Given the description of an element on the screen output the (x, y) to click on. 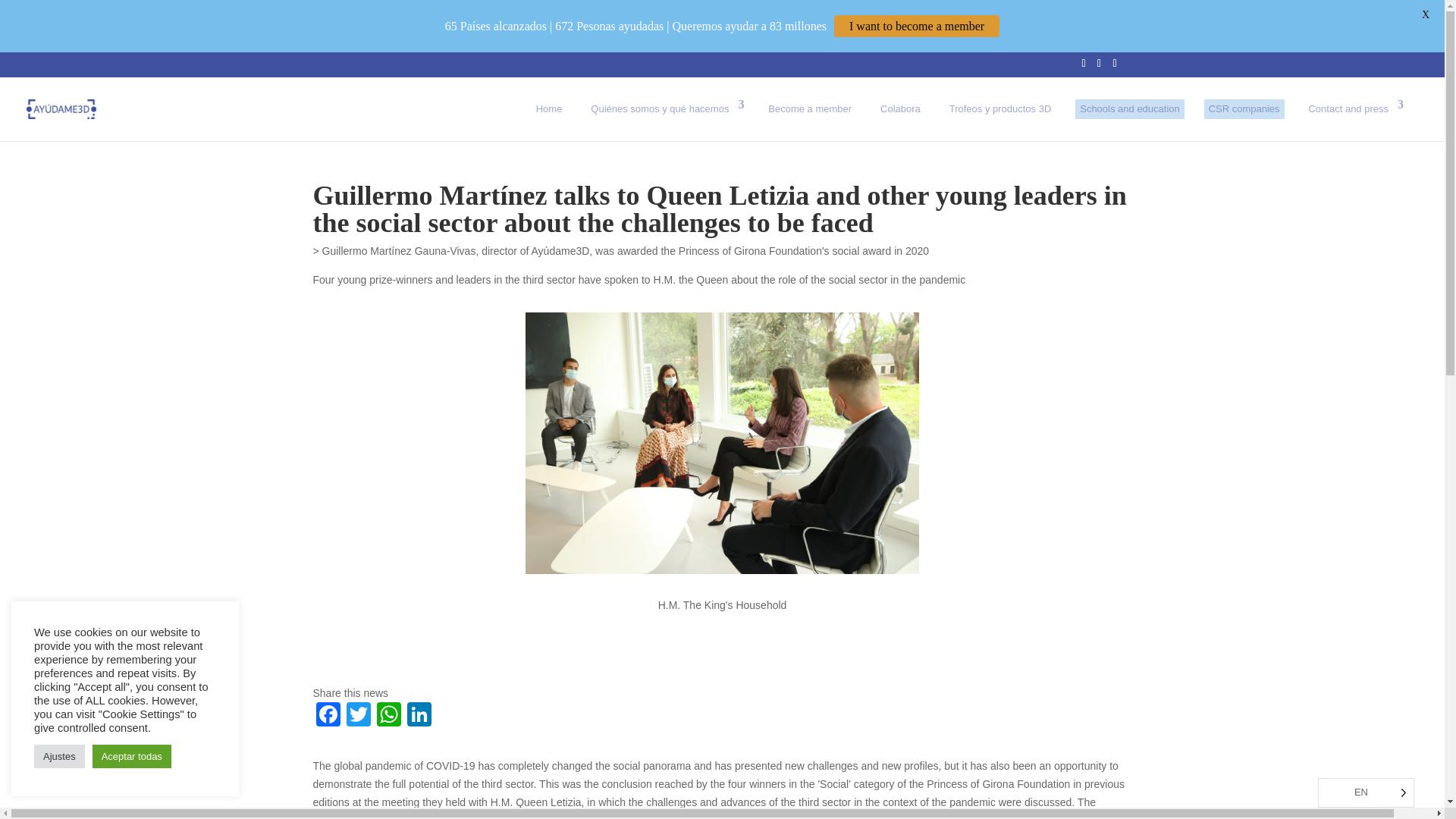
Twitter (357, 715)
Colabora (900, 108)
Facebook (327, 715)
Become a member (809, 108)
8520-fco-0759 (721, 443)
WhatsApp (387, 715)
Schools and education (1130, 108)
Trofeos y productos 3D (1000, 108)
Facebook (327, 715)
CSR companies (1244, 108)
